Given the description of an element on the screen output the (x, y) to click on. 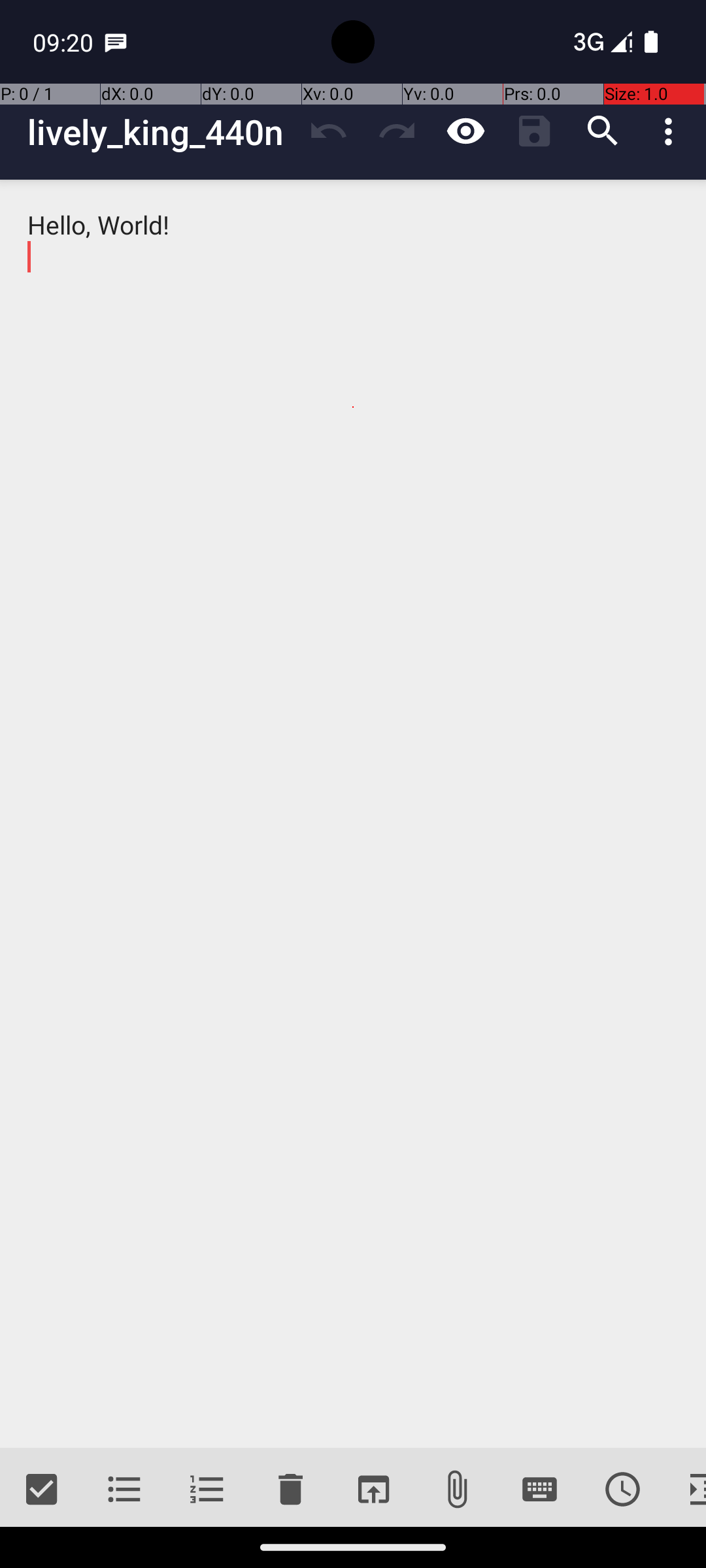
lively_king_440n Element type: android.widget.TextView (160, 131)
Hello, World!
 Element type: android.widget.EditText (353, 813)
Ordered list Element type: android.widget.ImageView (207, 1488)
Indent Element type: android.widget.ImageView (685, 1488)
09:20 Element type: android.widget.TextView (64, 41)
